Given the description of an element on the screen output the (x, y) to click on. 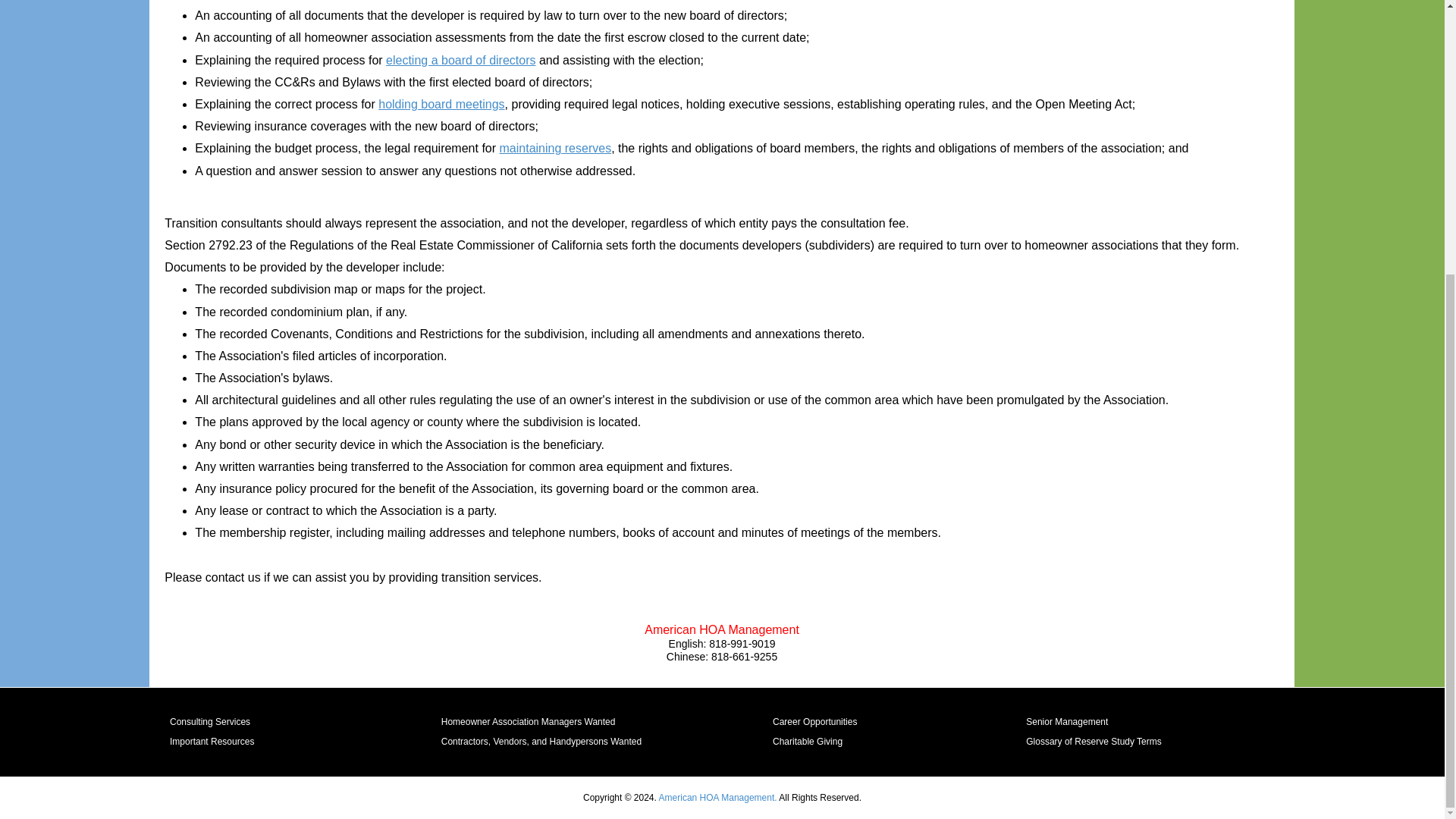
Career Opportunities (906, 722)
American HOA Management. (718, 797)
electing a board of directors (460, 60)
Consulting Services (312, 722)
Homeowner Association Managers Wanted (615, 722)
Charitable Giving (906, 741)
Glossary of Reserve Study Terms (1123, 741)
maintaining reserves (555, 147)
Senior Management (1123, 722)
Important Resources (312, 741)
Contractors, Vendors, and Handypersons Wanted (615, 741)
holding board meetings (440, 103)
